Given the description of an element on the screen output the (x, y) to click on. 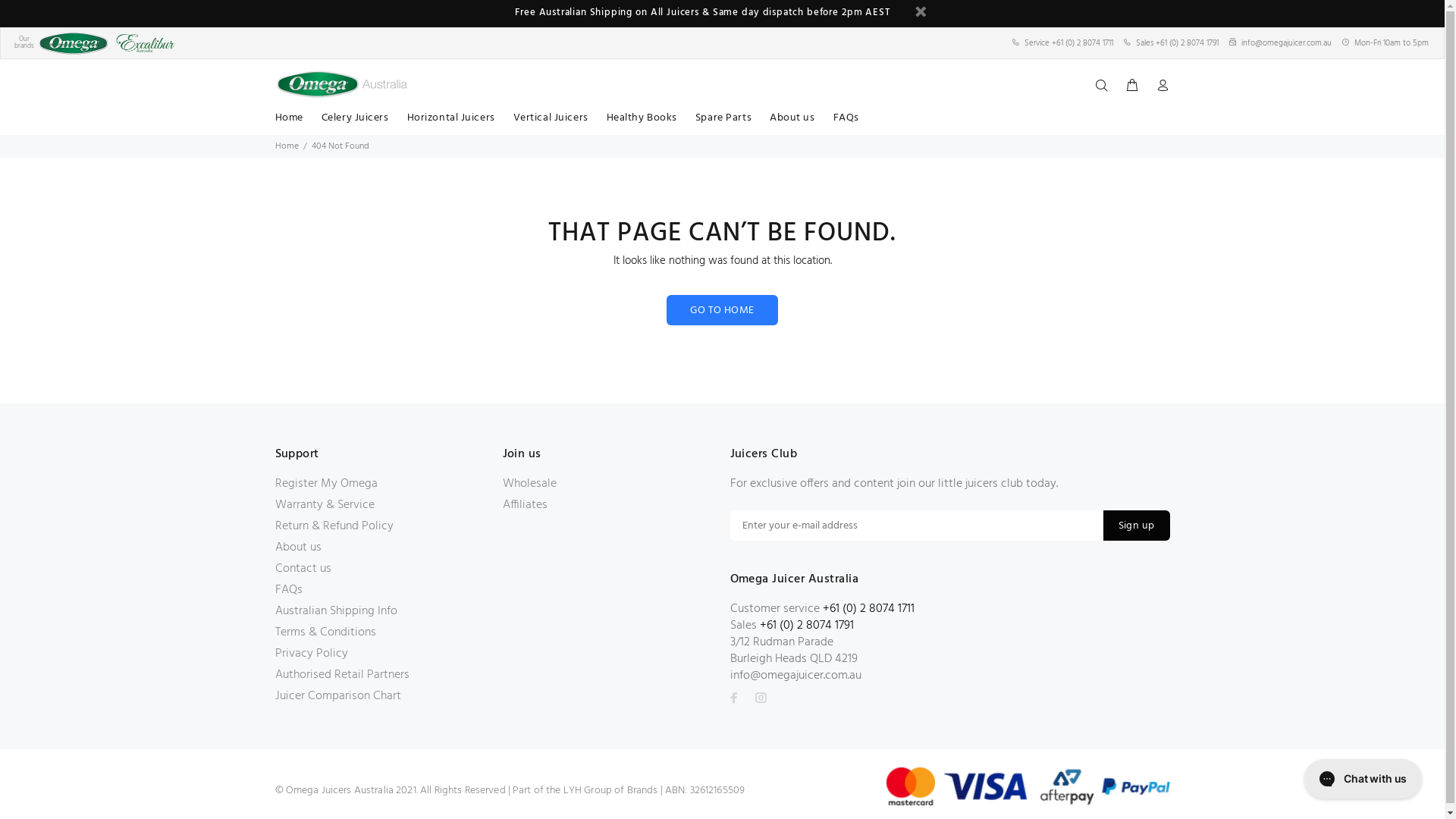
Privacy Policy Element type: text (310, 653)
About us Element type: text (297, 547)
Healthy Books Element type: text (641, 119)
Register My Omega Element type: text (325, 483)
Return & Refund Policy Element type: text (333, 525)
+61 (0) 2 8074 1791 Element type: text (806, 625)
Service +61 (0) 2 8074 1711 Element type: text (1068, 43)
+61 (0) 2 8074 1711 Element type: text (867, 608)
Home Element type: text (288, 119)
Juicer Comparison Chart Element type: text (337, 695)
Sign up Element type: text (1136, 525)
Australian Shipping Info Element type: text (335, 610)
Sales +61 (0) 2 8074 1791 Element type: text (1176, 43)
Horizontal Juicers Element type: text (451, 119)
info@omegajuicer.com.au Element type: text (1286, 43)
Home Element type: text (286, 145)
Terms & Conditions Element type: text (324, 632)
FAQs Element type: text (841, 119)
About us Element type: text (791, 119)
Celery Juicers Element type: text (355, 119)
GO TO HOME Element type: text (721, 309)
Gorgias live chat messenger Element type: hover (1362, 778)
Vertical Juicers Element type: text (550, 119)
Authorised Retail Partners Element type: text (341, 674)
Warranty & Service Element type: text (323, 504)
Spare Parts Element type: text (723, 119)
Affiliates Element type: text (524, 504)
Wholesale Element type: text (528, 483)
Contact us Element type: text (302, 568)
FAQs Element type: text (287, 589)
